Given the description of an element on the screen output the (x, y) to click on. 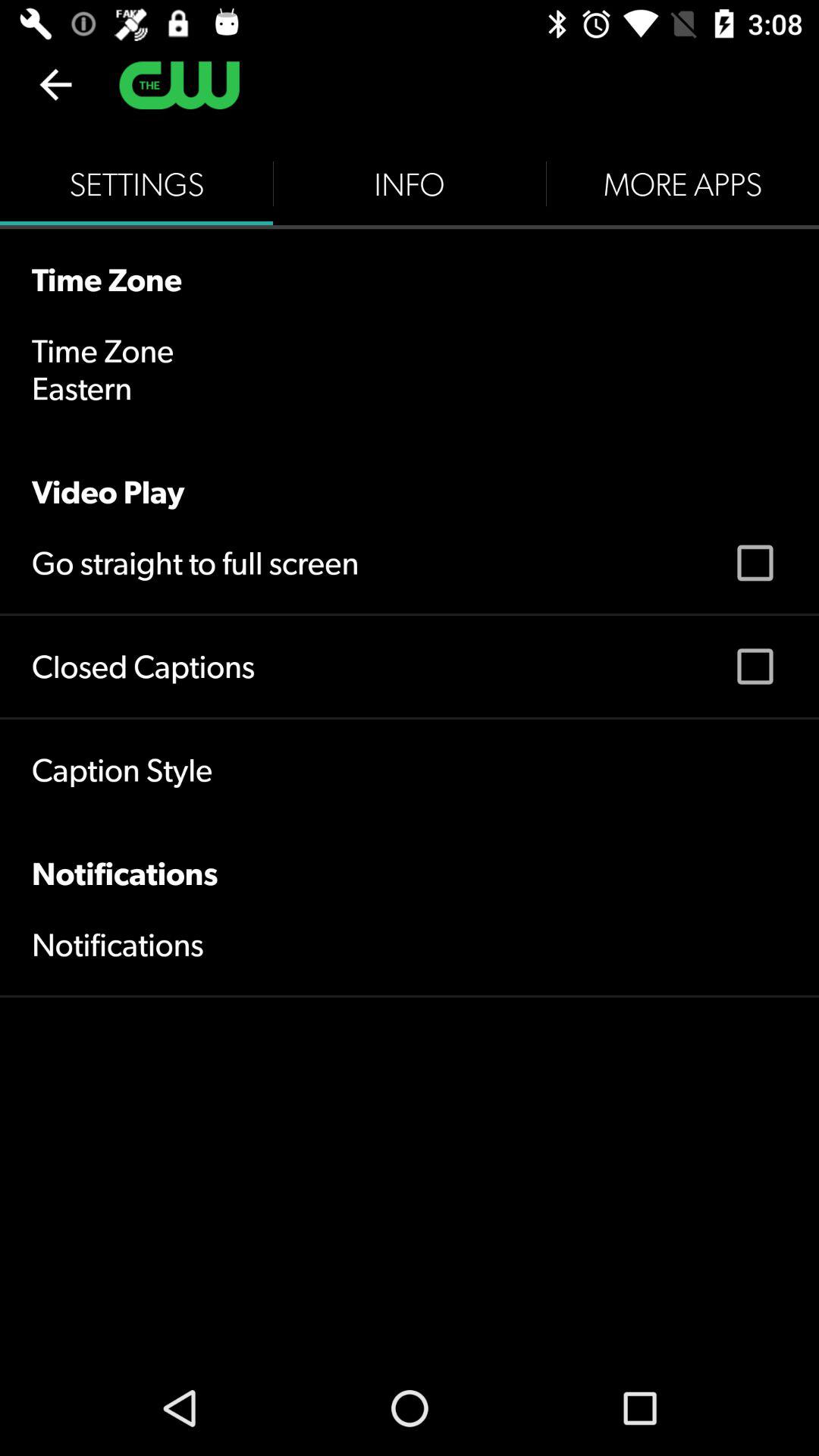
turn on icon next to info icon (136, 184)
